Given the description of an element on the screen output the (x, y) to click on. 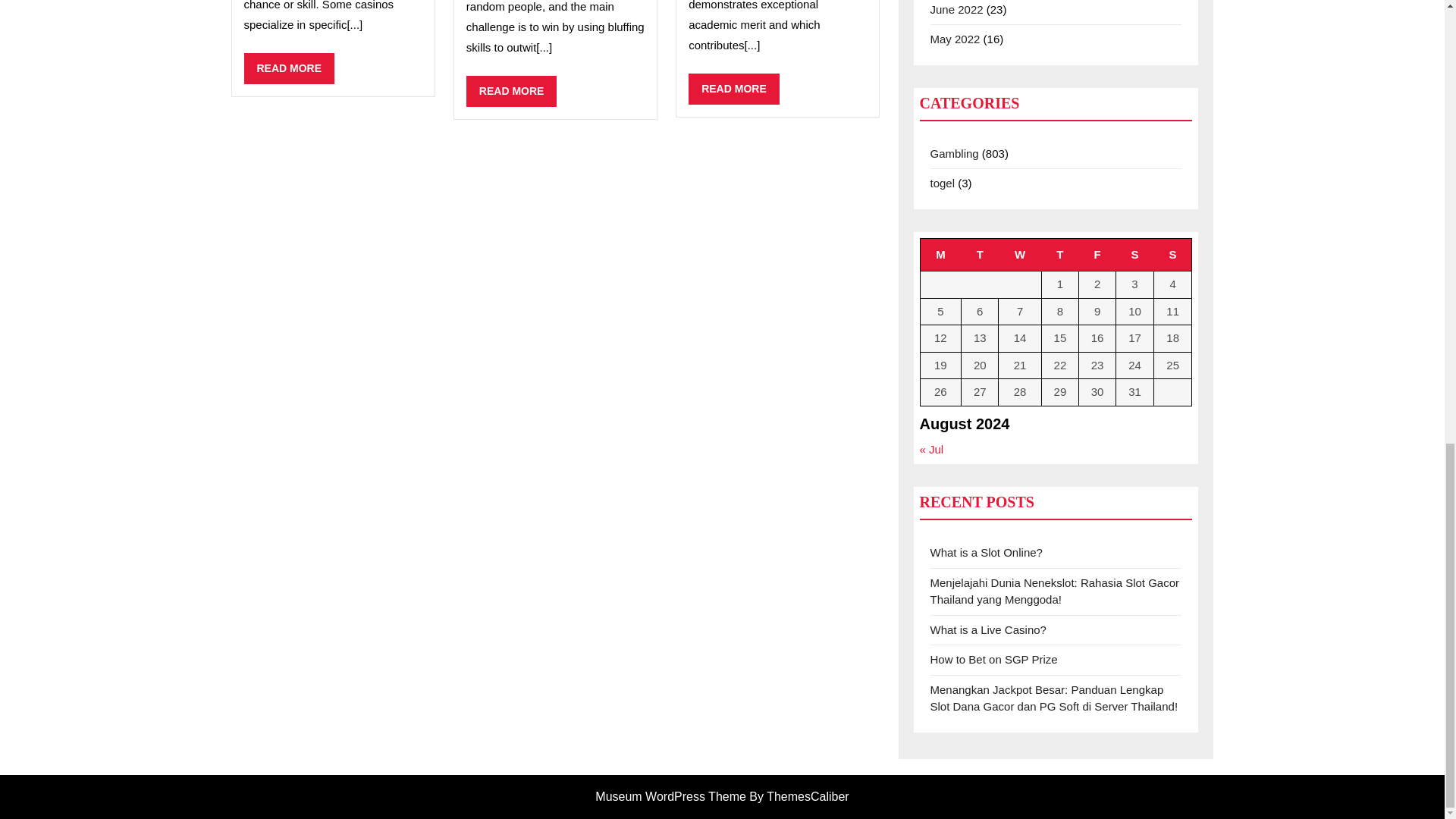
Tuesday (733, 88)
Monday (979, 254)
Thursday (511, 91)
Sunday (940, 254)
Friday (1059, 254)
Saturday (1172, 254)
Wednesday (1097, 254)
